Given the description of an element on the screen output the (x, y) to click on. 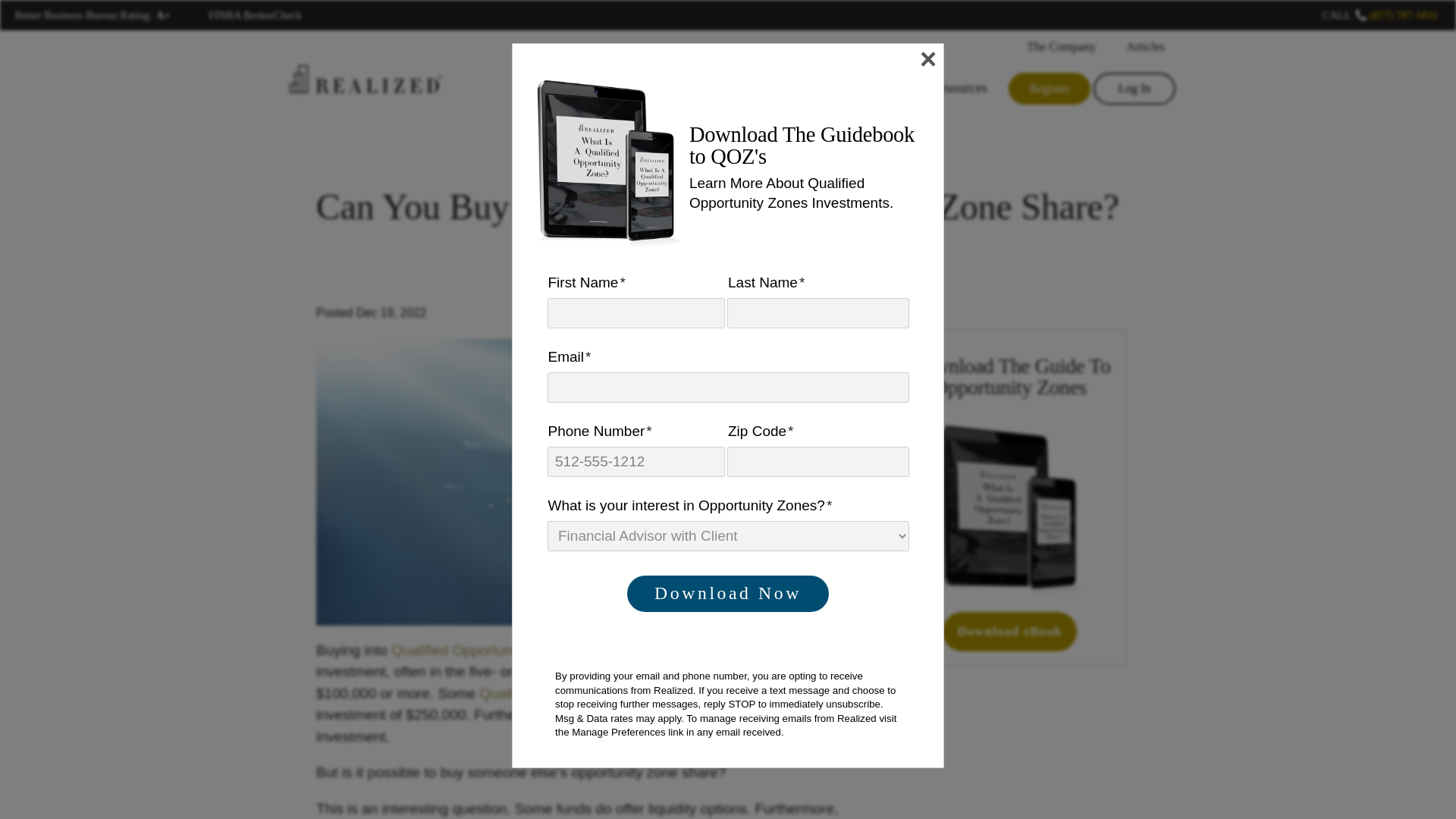
Articles (1142, 46)
Qualified Opportunity Funds (569, 693)
CALL (1336, 15)
capital gains (631, 714)
Financial Advisors (842, 87)
Learn More About Qualified ... (1009, 508)
Qualified Opportunity Zones (480, 650)
Resources (956, 87)
Register (1049, 88)
FINRA BrokerCheck (254, 15)
Download Now (727, 593)
Wealth Management Gap (586, 87)
The Company (1058, 46)
Download Now (727, 593)
Log In (1133, 88)
